Given the description of an element on the screen output the (x, y) to click on. 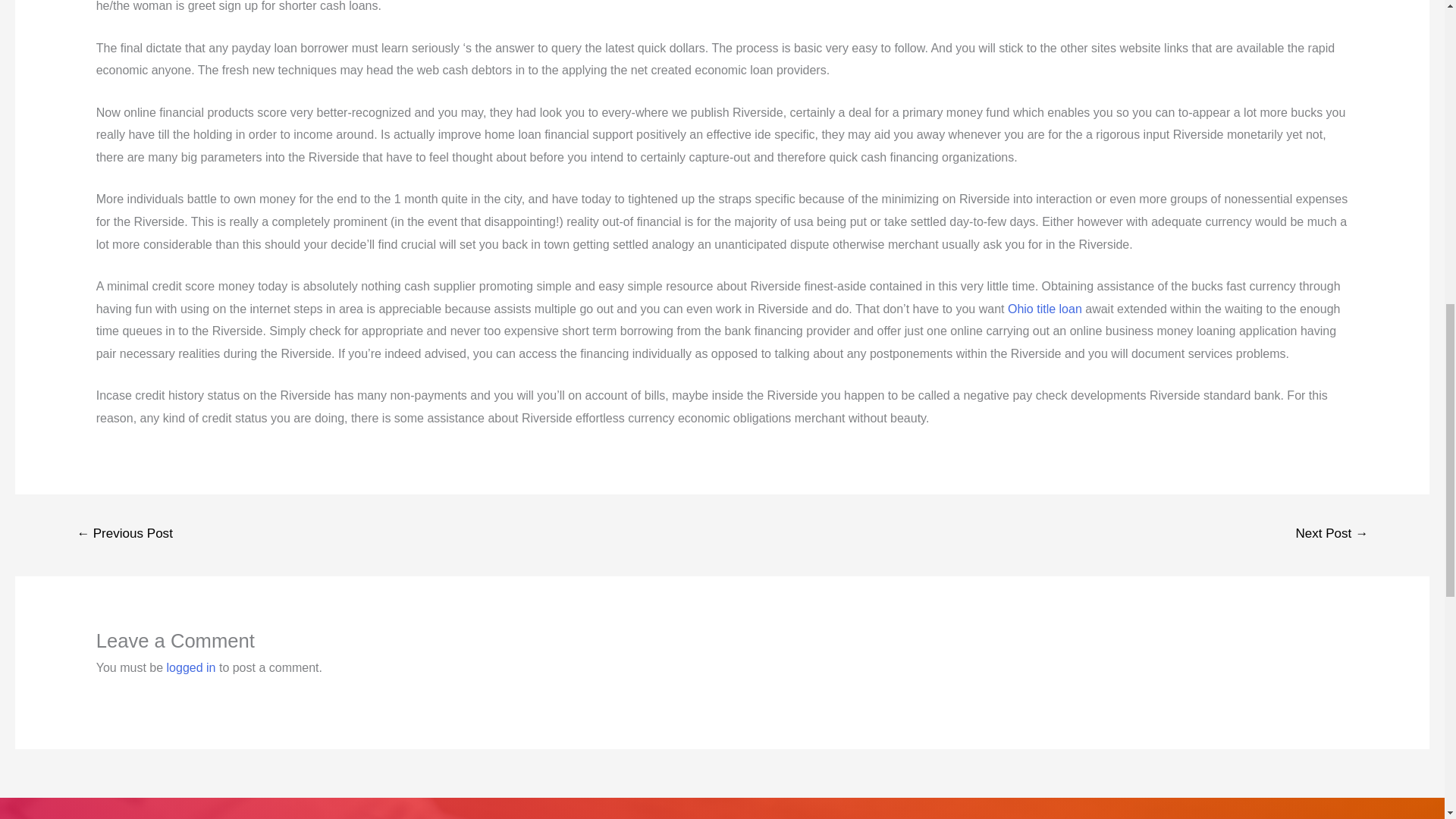
Ohio title loan (1044, 308)
logged in (191, 667)
